Given the description of an element on the screen output the (x, y) to click on. 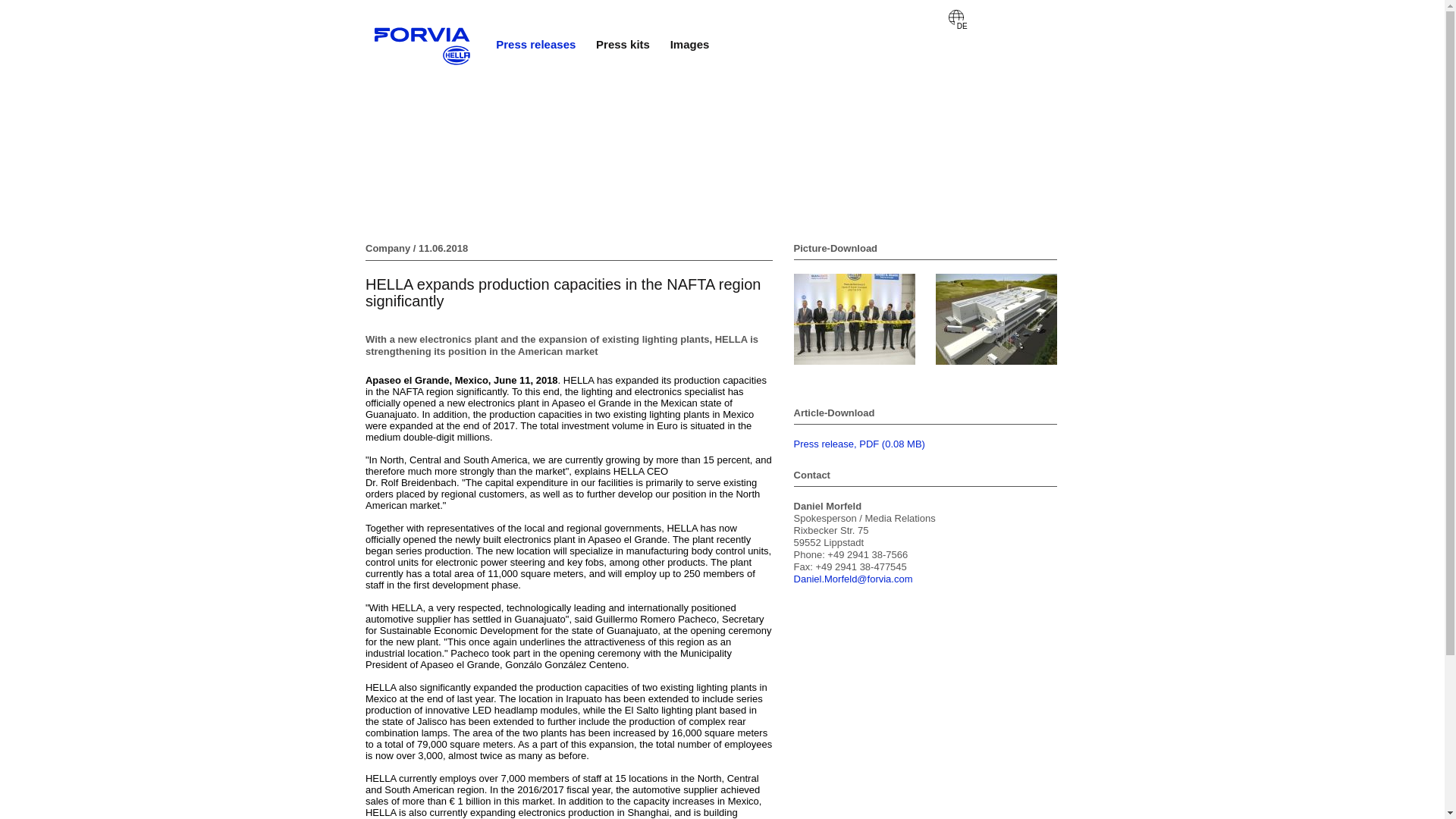
Images (689, 43)
Press kits (622, 43)
Press releases (535, 43)
Deutsch (956, 17)
